Given the description of an element on the screen output the (x, y) to click on. 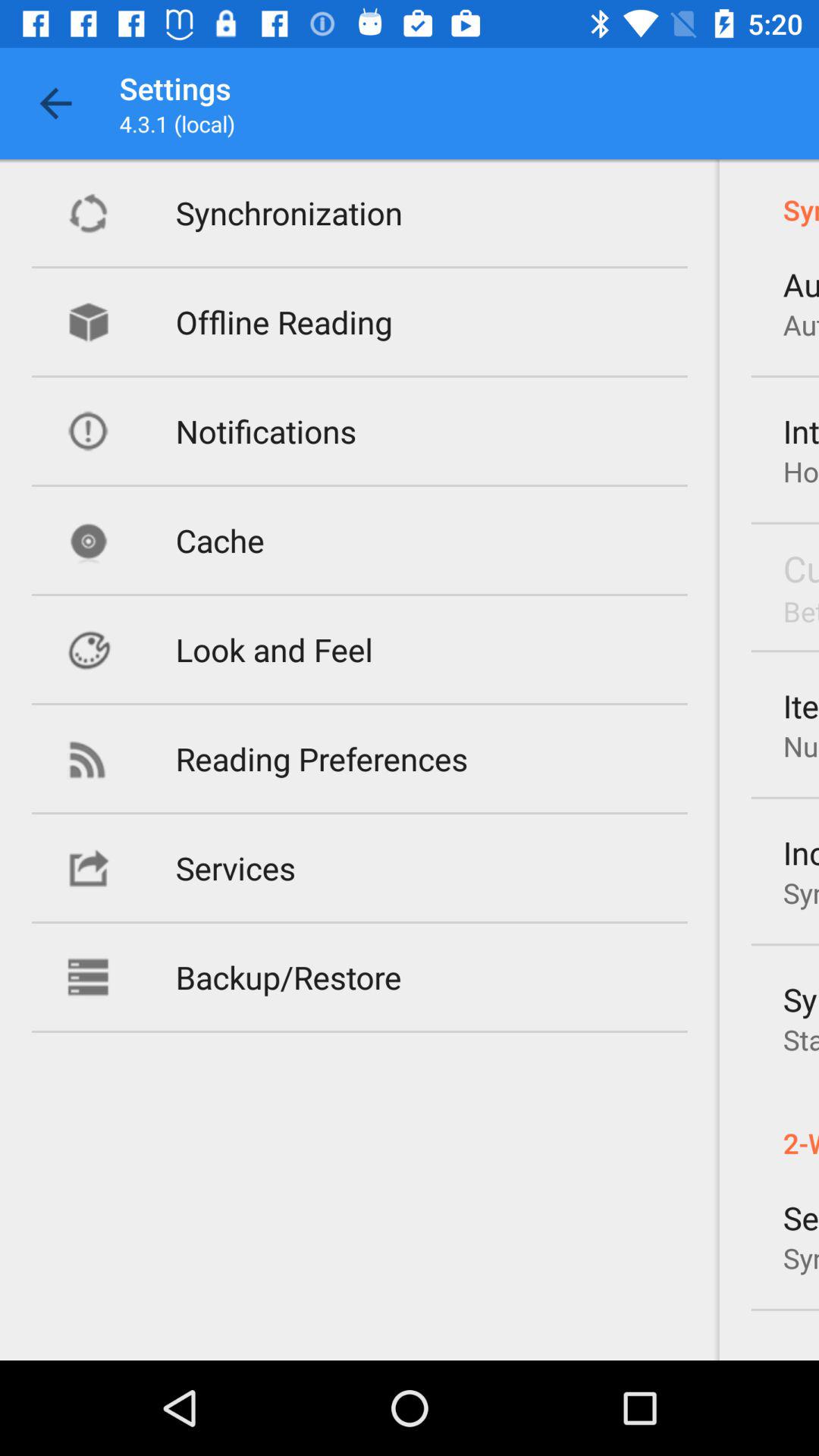
select icon to the left of item limit icon (321, 758)
